Given the description of an element on the screen output the (x, y) to click on. 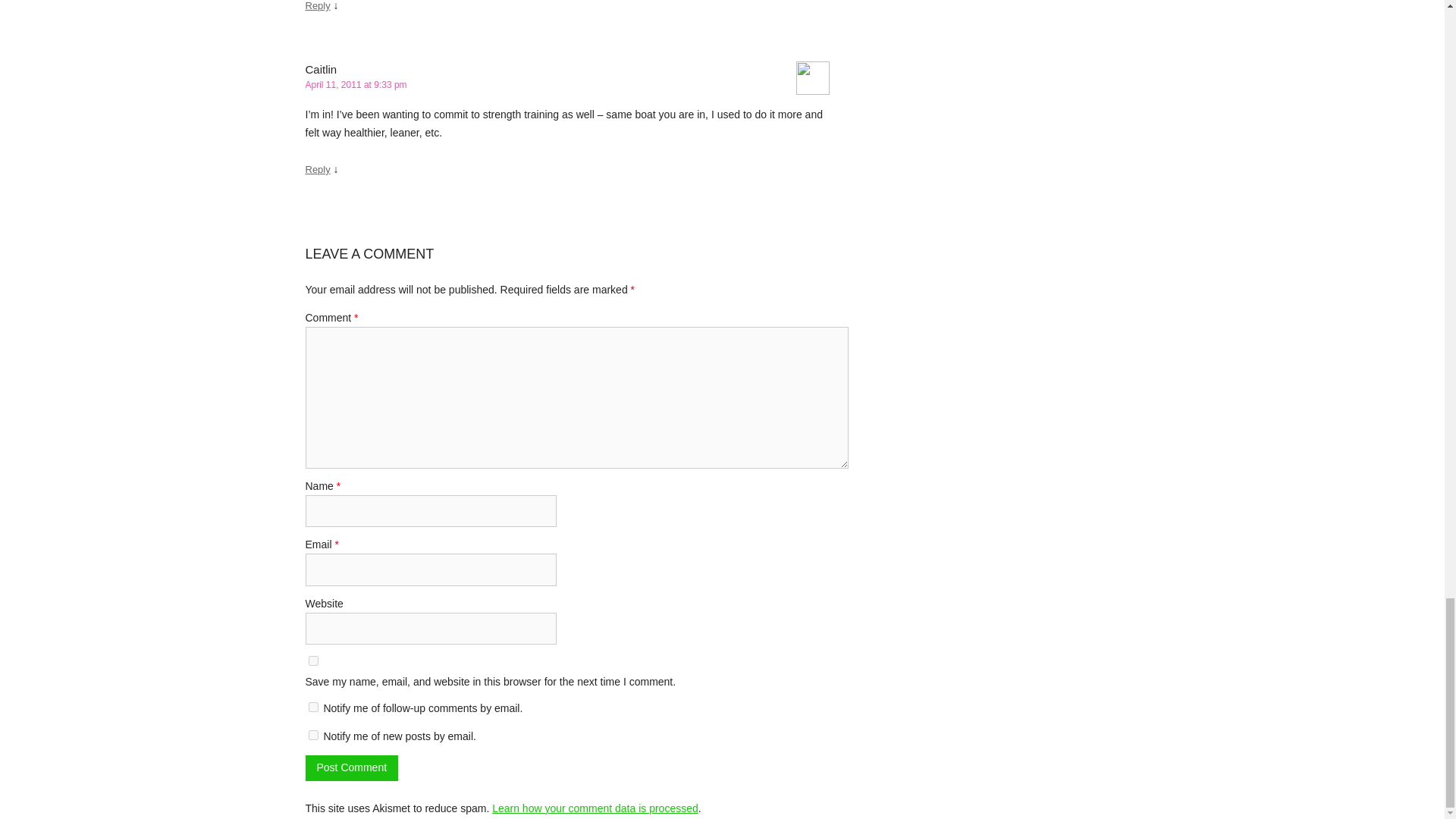
yes (312, 660)
Post Comment (350, 768)
subscribe (312, 735)
subscribe (312, 706)
